Given the description of an element on the screen output the (x, y) to click on. 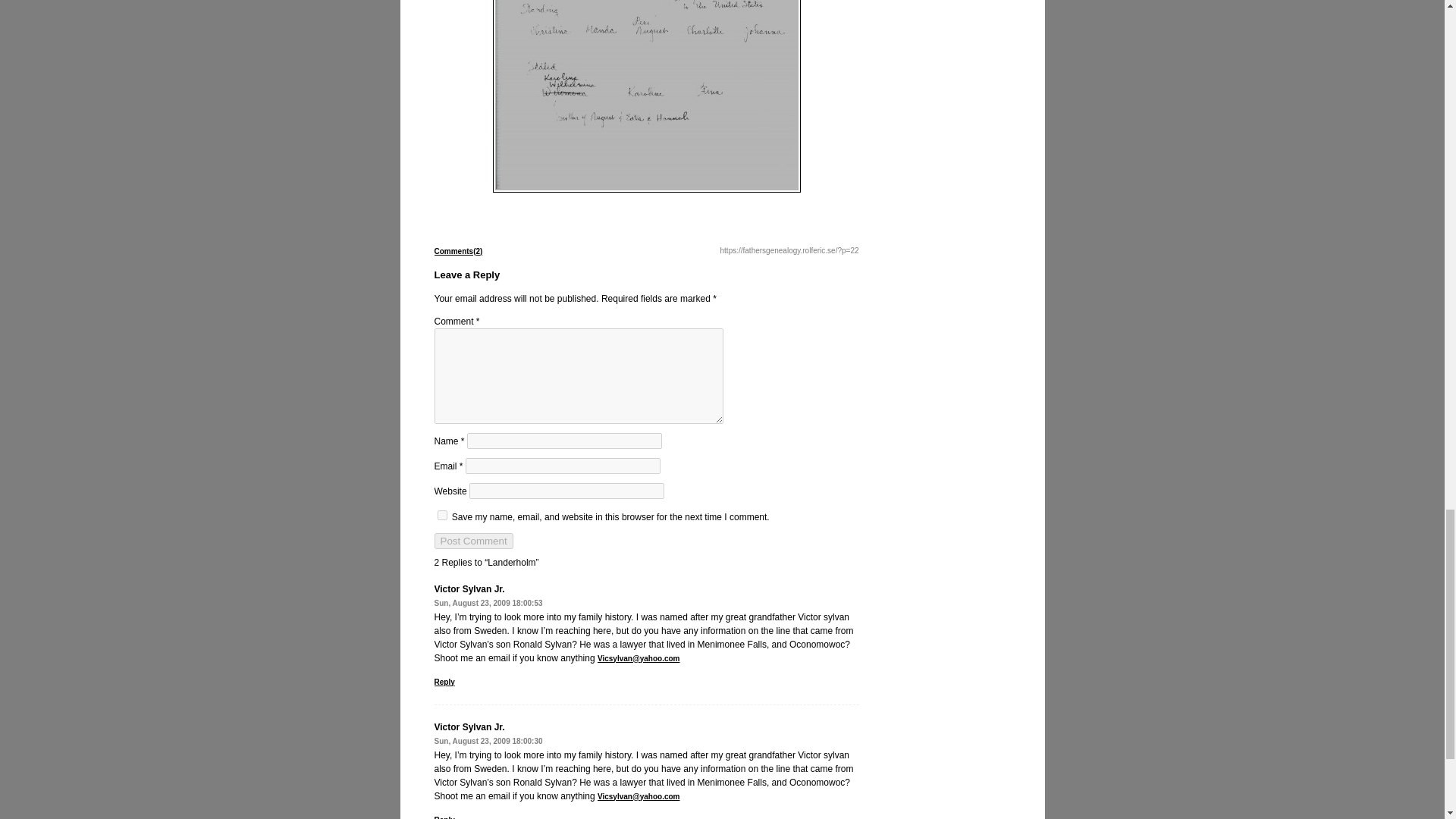
Reply (443, 817)
yes (441, 515)
Sun, August 23, 2009 18:00:53 (487, 602)
Sun, August 23, 2009 18:00:30 (487, 741)
Sun, August 23, 2009 18:00:53 (487, 602)
Post Comment (472, 540)
Reply (443, 682)
Post Comment (472, 540)
Sun, August 23, 2009 18:00:30 (487, 741)
